Given the description of an element on the screen output the (x, y) to click on. 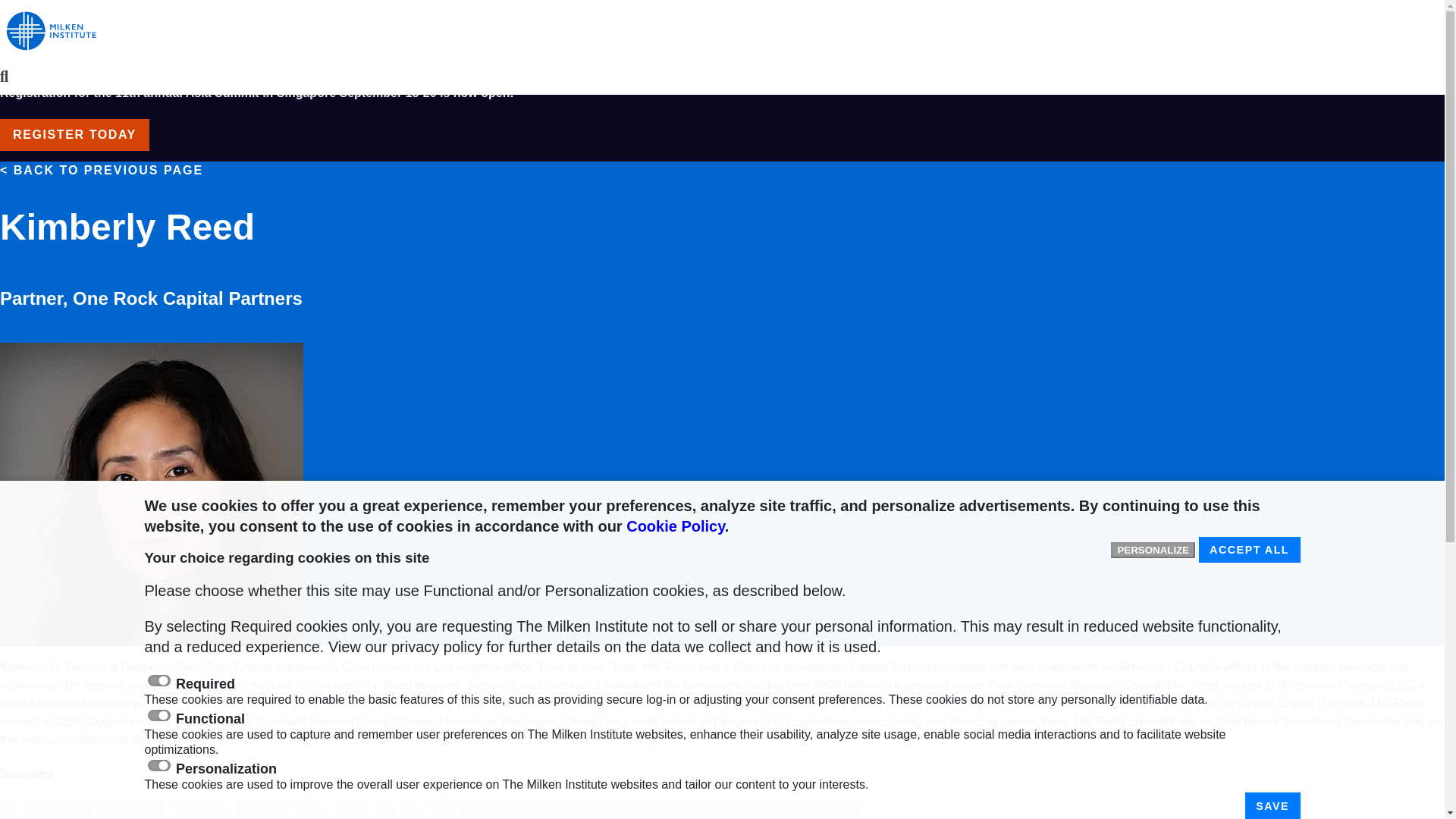
personalization (158, 765)
functional (158, 715)
required (158, 680)
REGISTER TODAY (74, 134)
